Given the description of an element on the screen output the (x, y) to click on. 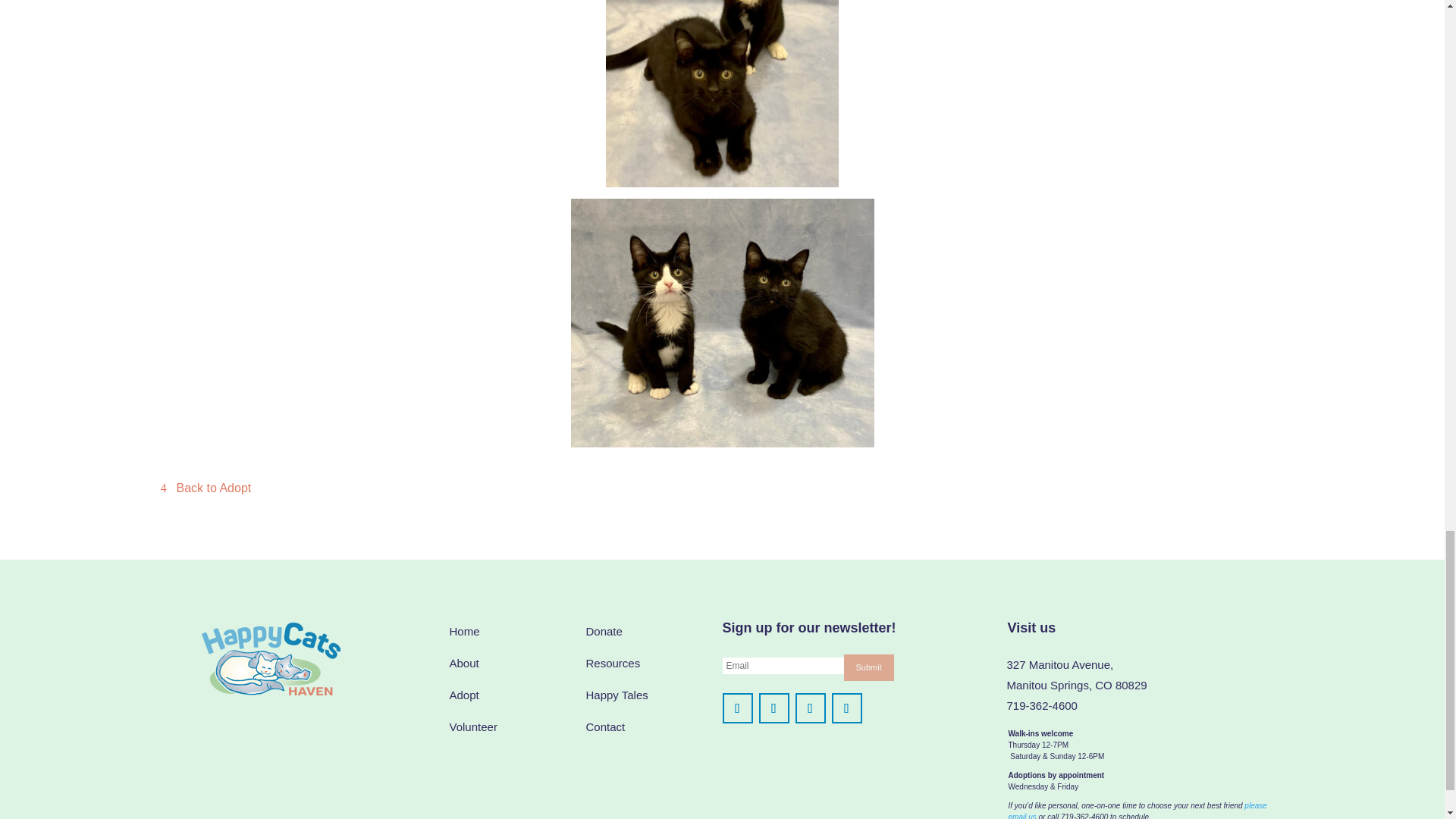
About (463, 662)
Donate (603, 631)
Blog (616, 694)
Submit (868, 667)
Volunteer (472, 726)
Home (463, 631)
happycatslogoforced2 (270, 658)
Follow on Facebook (737, 707)
Follow on Instagram (773, 707)
Contact (604, 726)
Resources (612, 662)
Adopt (463, 694)
